Given the description of an element on the screen output the (x, y) to click on. 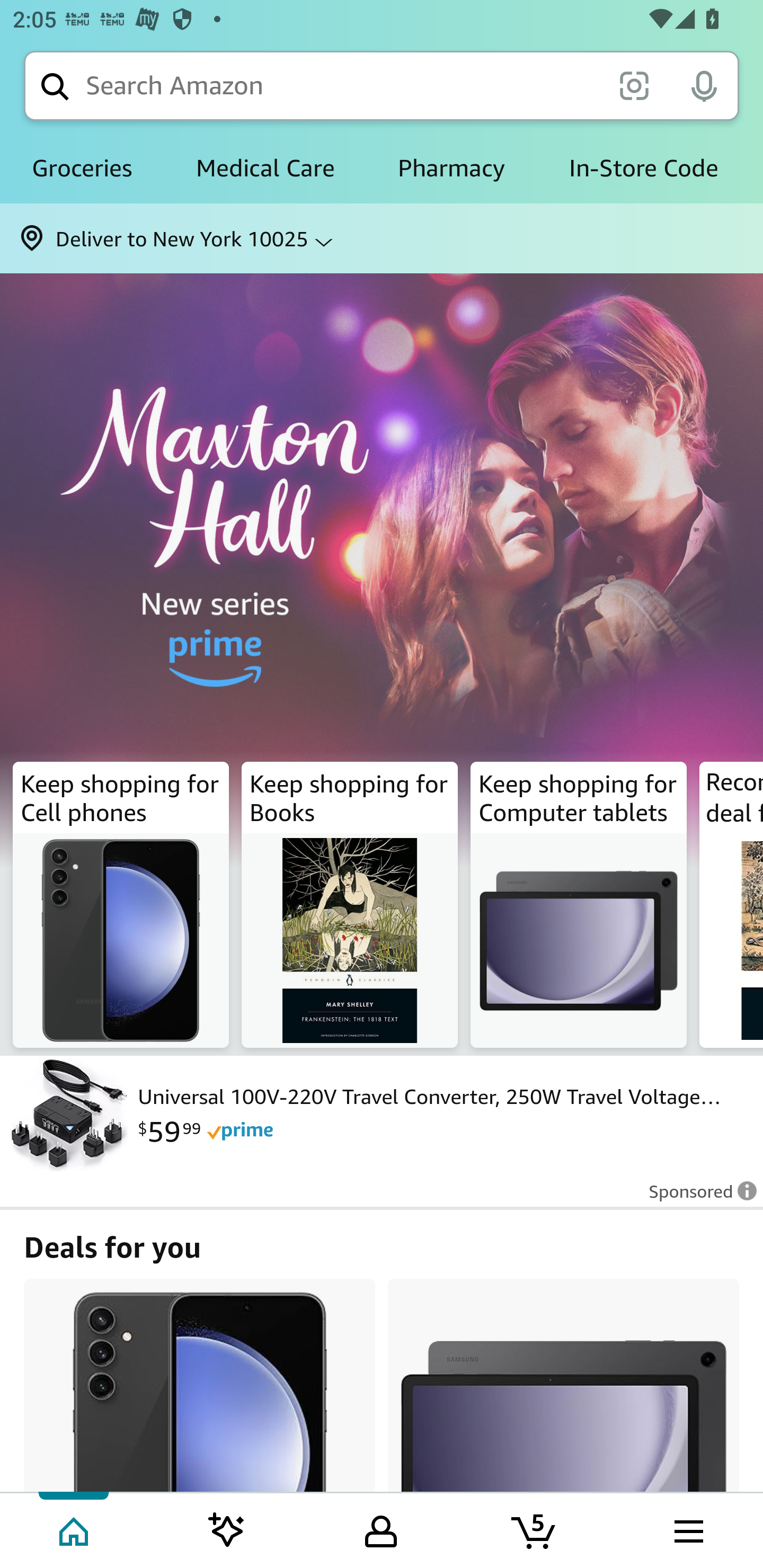
scan it (633, 85)
Groceries (82, 168)
Medical Care (265, 168)
Pharmacy (451, 168)
In-Store Code (643, 168)
Deliver to New York 10025 ⌵ (381, 237)
Keep shopping for Books Keep shopping for Books (349, 904)
Leave feedback on Sponsored ad Sponsored  (696, 1196)
Home Tab 1 of 5 (75, 1529)
Inspire feed Tab 2 of 5 (227, 1529)
Your Amazon.com Tab 3 of 5 (380, 1529)
Cart 5 items Tab 4 of 5 5 (534, 1529)
Browse menu Tab 5 of 5 (687, 1529)
